Given the description of an element on the screen output the (x, y) to click on. 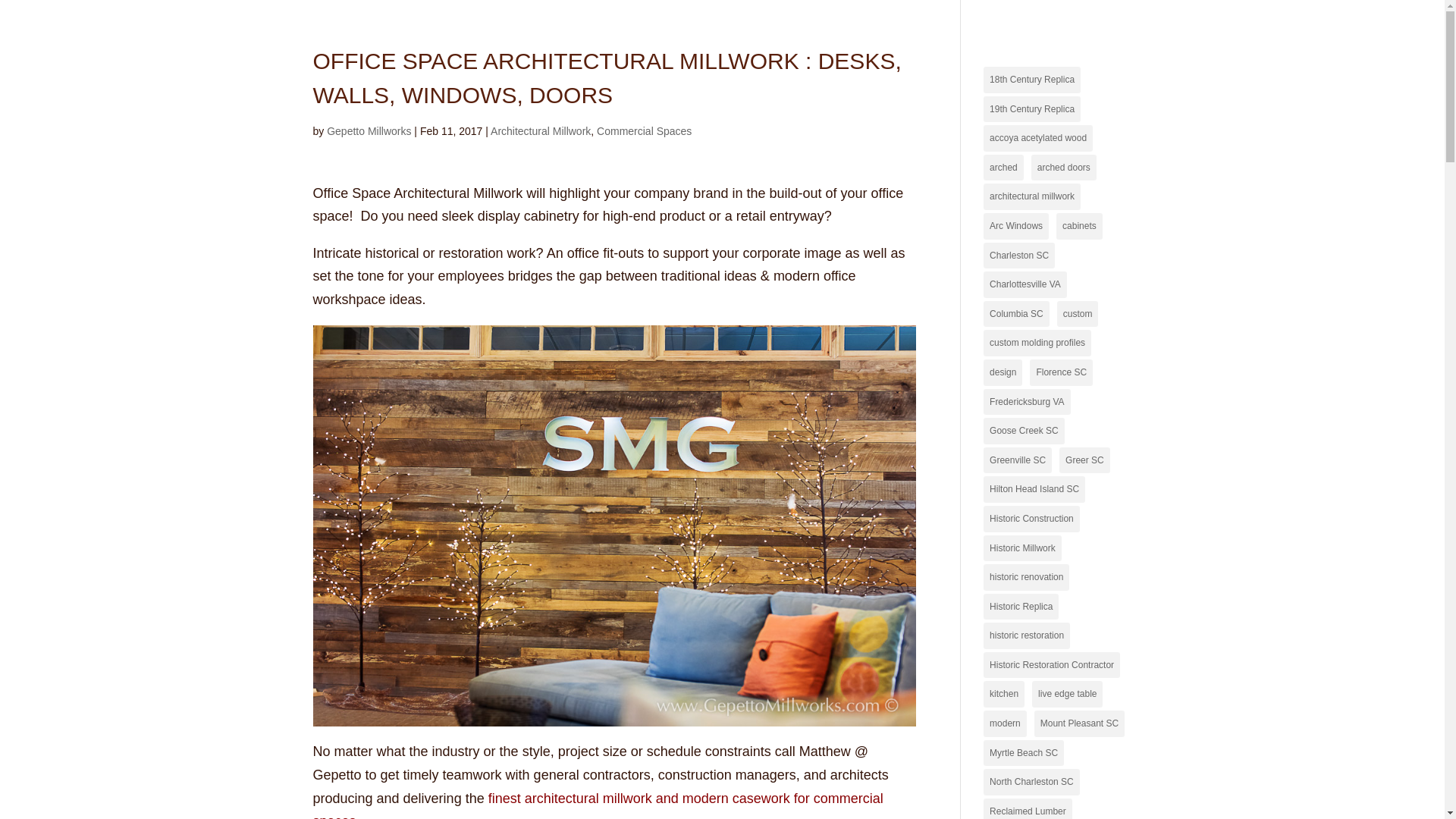
Charlottesville VA (1025, 284)
custom (1078, 314)
arched doors (1063, 167)
Goose Creek SC (1024, 430)
Florence SC (1061, 372)
Architectural Millwork (540, 131)
arched (1003, 167)
architectural millwork (1032, 196)
Posts by Gepetto Millworks (368, 131)
design (1003, 372)
accoya acetylated wood (1038, 138)
Commercial Spaces (643, 131)
Columbia SC (1016, 314)
Gepetto Millworks (368, 131)
